Given the description of an element on the screen output the (x, y) to click on. 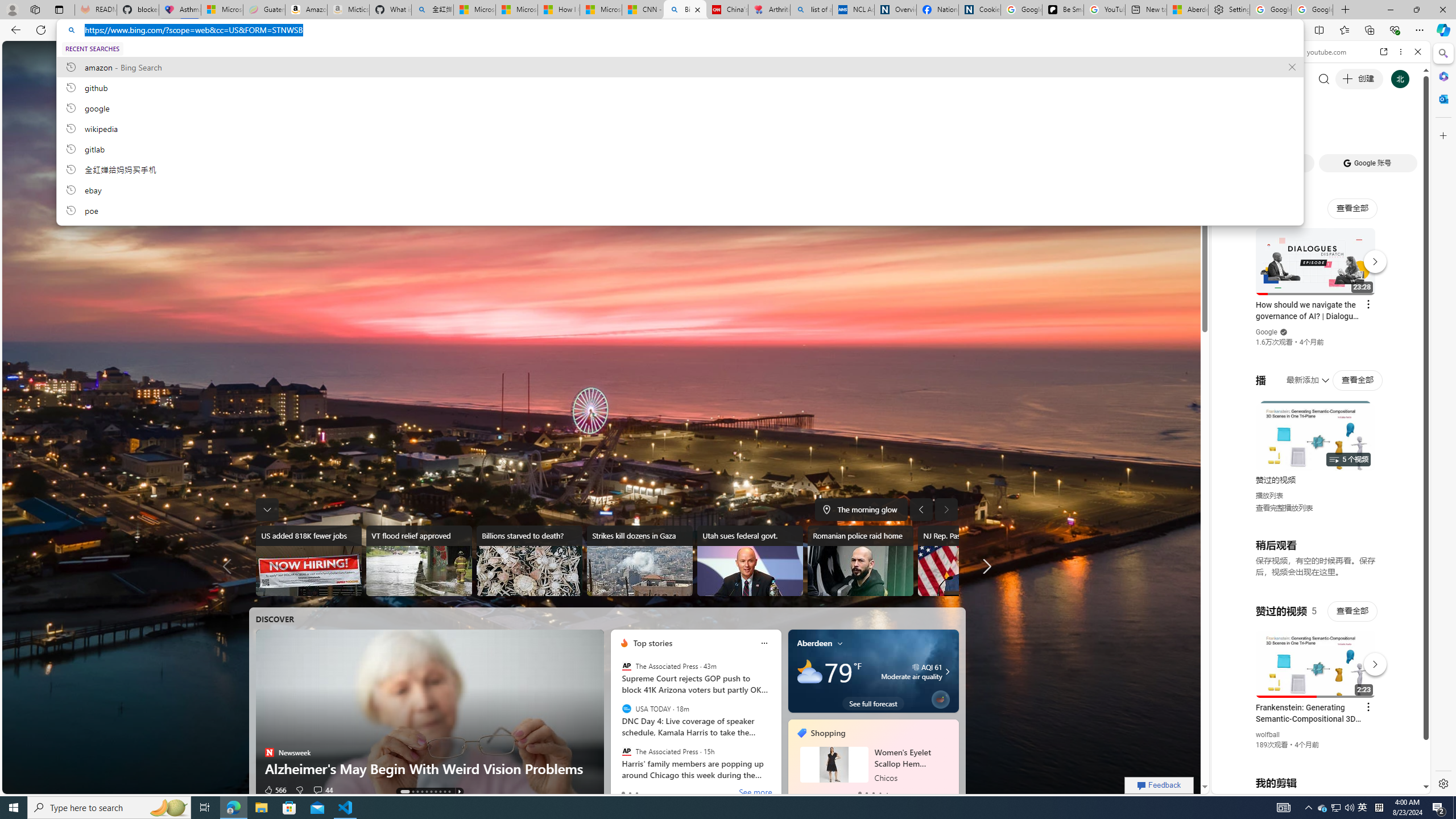
See full forecast (872, 703)
next (952, 760)
Animation (1045, 44)
tab-2 (872, 793)
Click to scroll right (1407, 456)
App bar (728, 29)
Next image (946, 508)
Feedback (1158, 785)
Microsoft Rewards 84 (1033, 54)
YouTube (1315, 655)
Settings and quick links (1065, 54)
Collections (1369, 29)
Minimize (1390, 9)
